Given the description of an element on the screen output the (x, y) to click on. 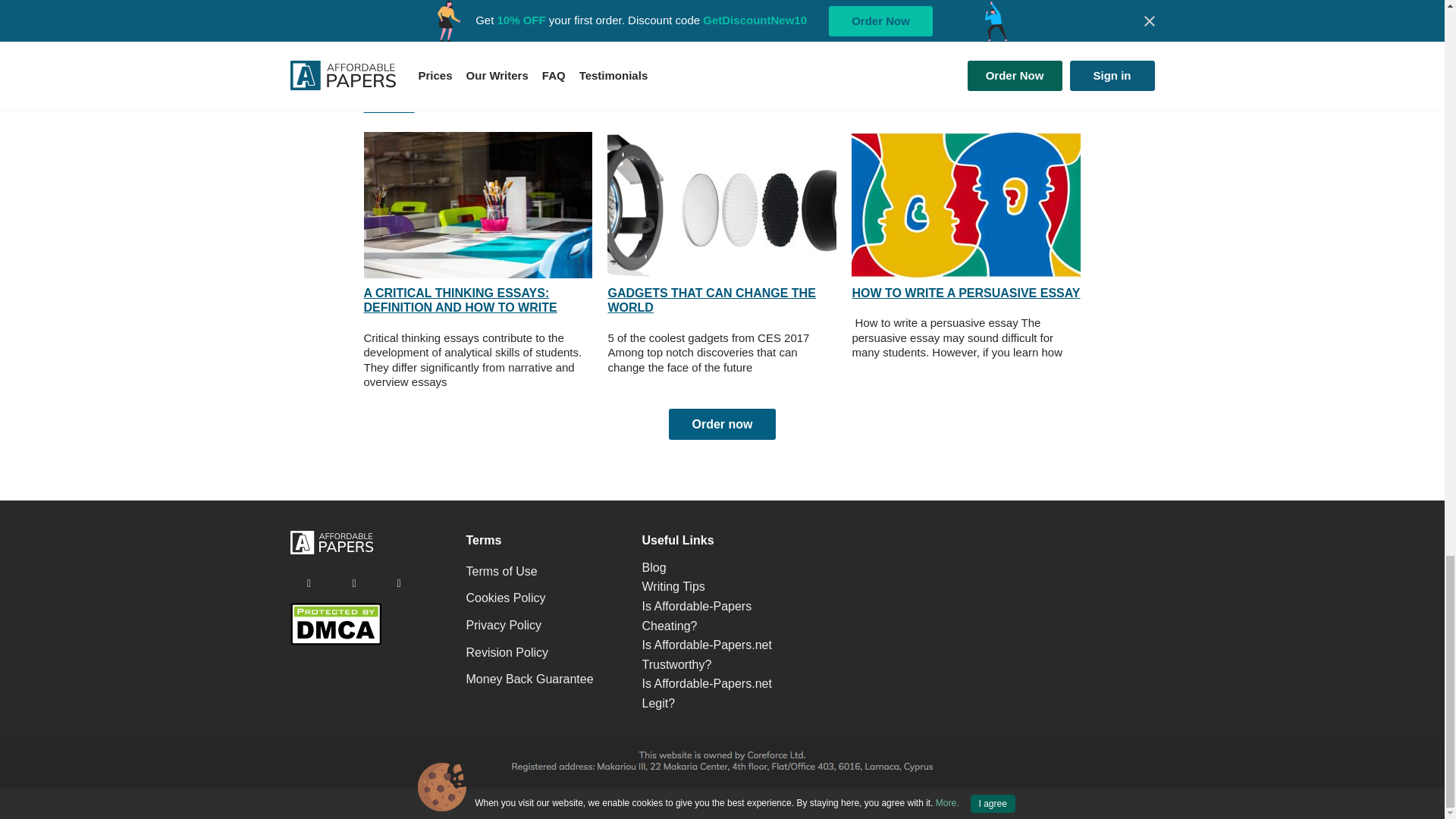
Order now (721, 424)
DMCA.com Protection Status (334, 640)
A Critical Thinking essays: definition and how to write (478, 204)
Money Back Guarantee (528, 678)
Terms of Use (501, 570)
Gadgets that can change the world (721, 204)
Affordable-Papers.net (330, 549)
HOW TO WRITE A PERSUASIVE ESSAY (965, 292)
GADGETS THAT CAN CHANGE THE WORLD (506, 652)
Follow us at Instagram (711, 299)
Privacy Policy (308, 582)
A CRITICAL THINKING ESSAYS: DEFINITION AND HOW TO WRITE (503, 624)
Cookies Policy (460, 299)
